Given the description of an element on the screen output the (x, y) to click on. 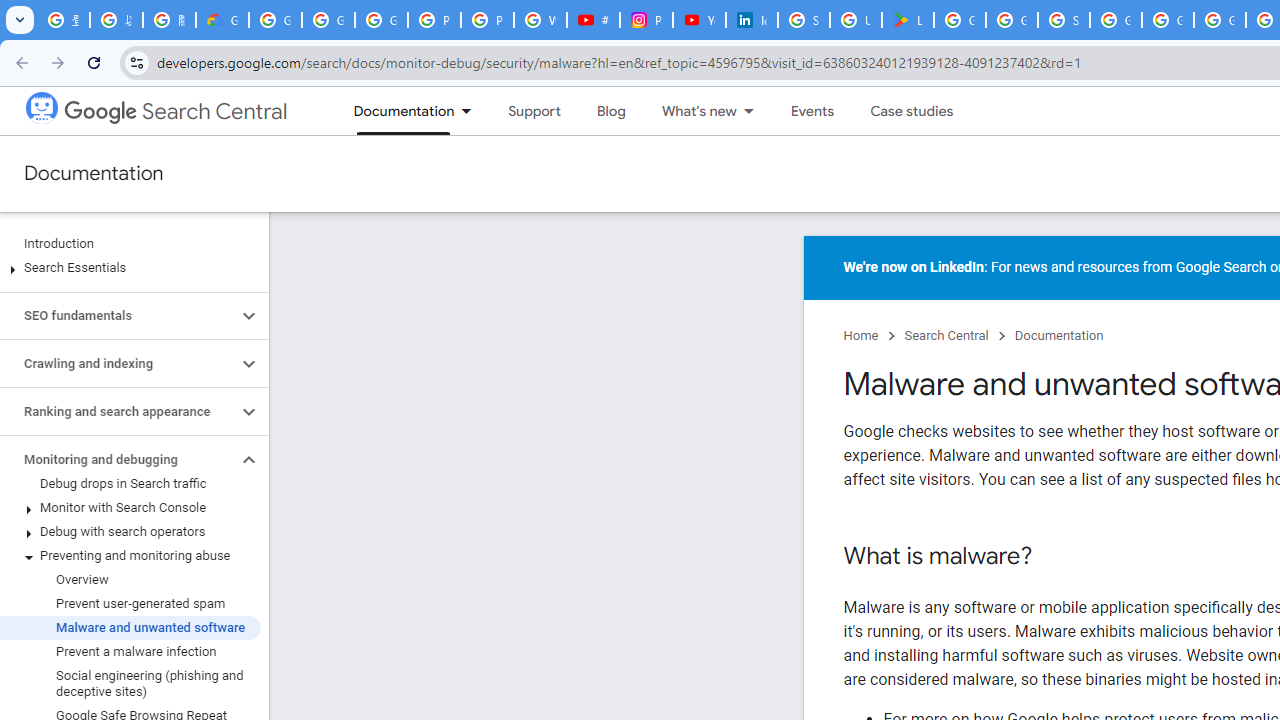
Prevent user-generated spam (130, 603)
SEO fundamentals (118, 315)
Debug with search operators (130, 531)
Blog (610, 111)
Crawling and indexing (118, 363)
Google Search Central (176, 111)
Prevent a malware infection (130, 651)
Google Cloud Platform (1167, 20)
Monitoring and debugging (118, 459)
